Given the description of an element on the screen output the (x, y) to click on. 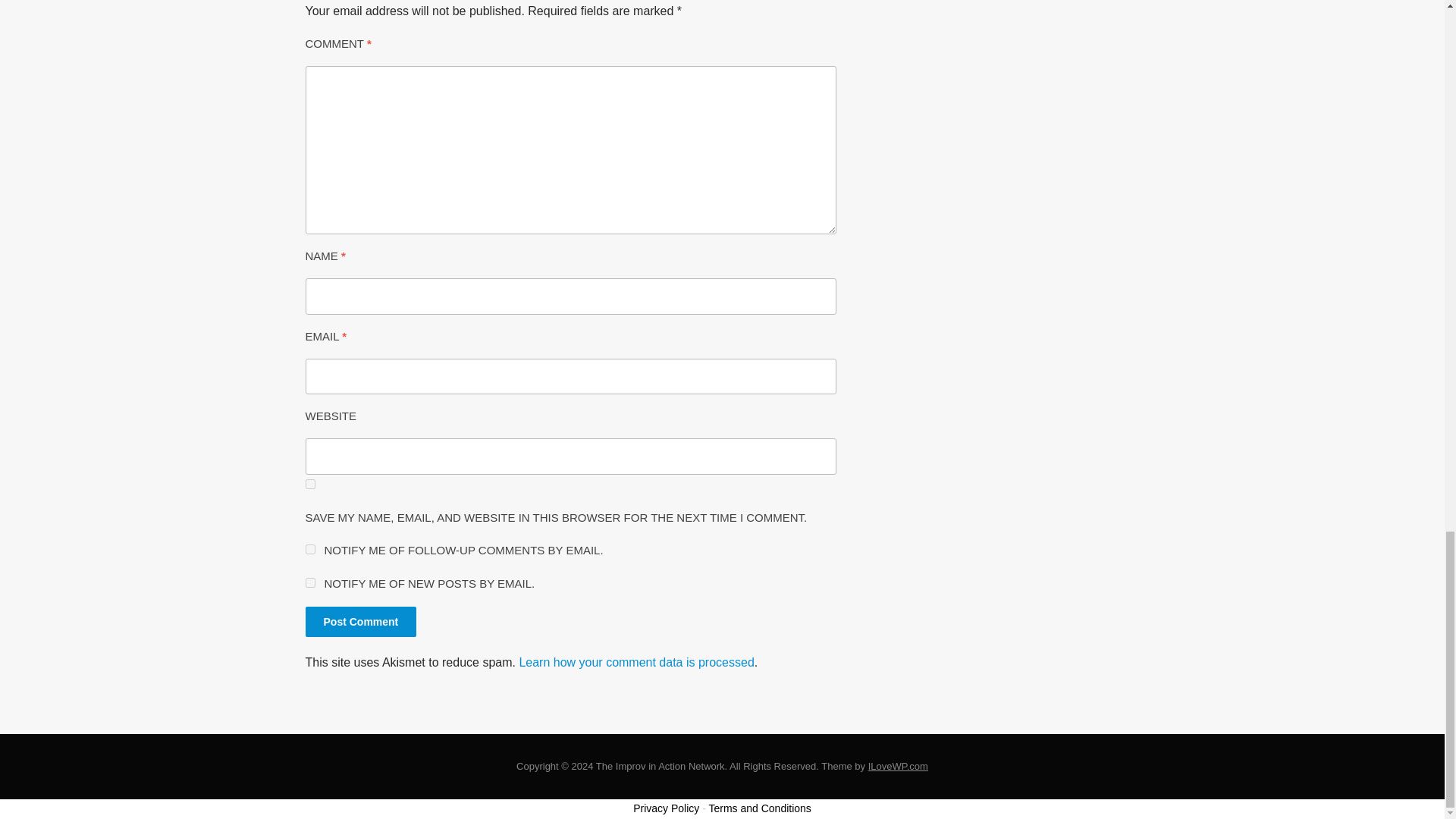
subscribe (309, 583)
yes (309, 483)
subscribe (309, 549)
Podcast WordPress Themes (897, 766)
Post Comment (360, 621)
